Given the description of an element on the screen output the (x, y) to click on. 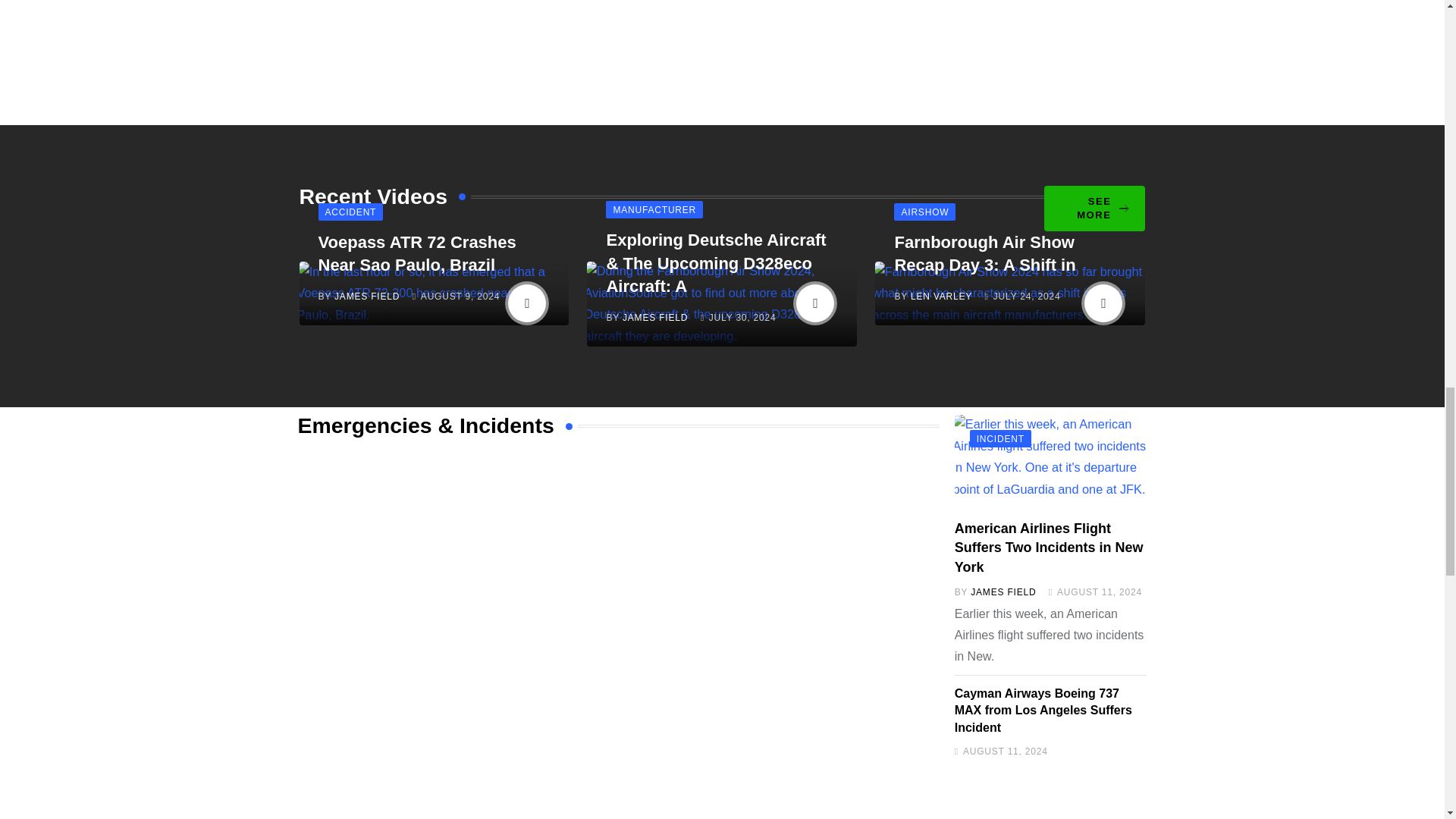
Posts by James Field (366, 296)
Posts by Len Varley (941, 296)
Posts by James Field (655, 317)
